Given the description of an element on the screen output the (x, y) to click on. 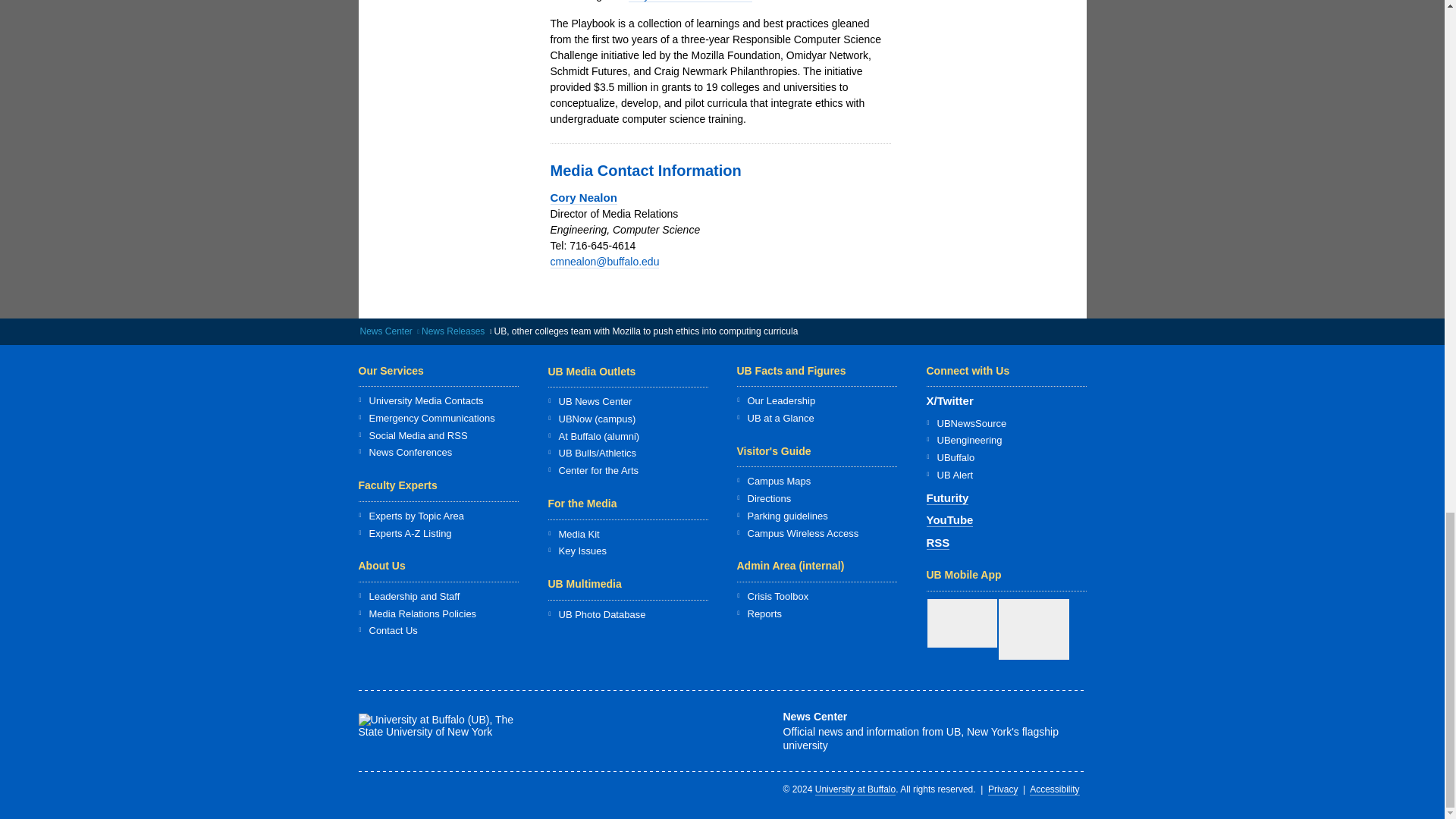
Cory Nealon (583, 197)
Playbook submission form (690, 1)
News Center (385, 330)
